Given the description of an element on the screen output the (x, y) to click on. 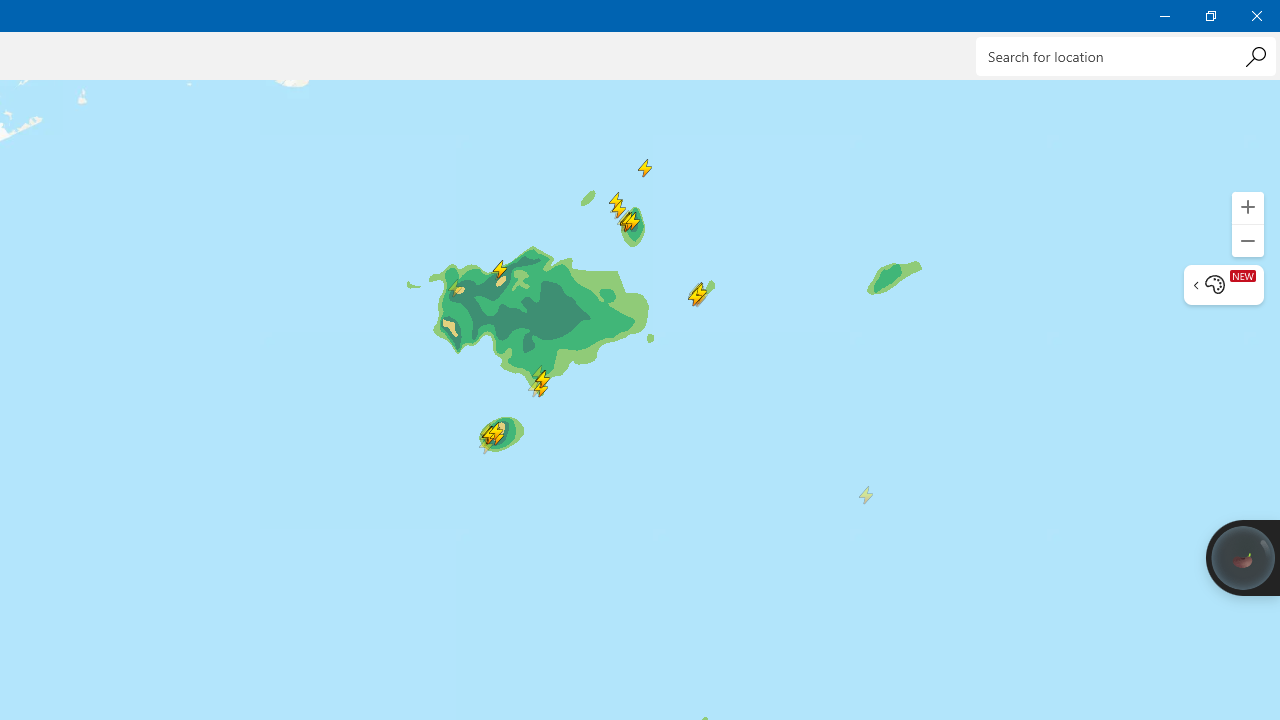
Search for location (1125, 56)
Restore Weather (1210, 15)
Minimize Weather (1164, 15)
Close Weather (1256, 15)
Search (1255, 56)
